Given the description of an element on the screen output the (x, y) to click on. 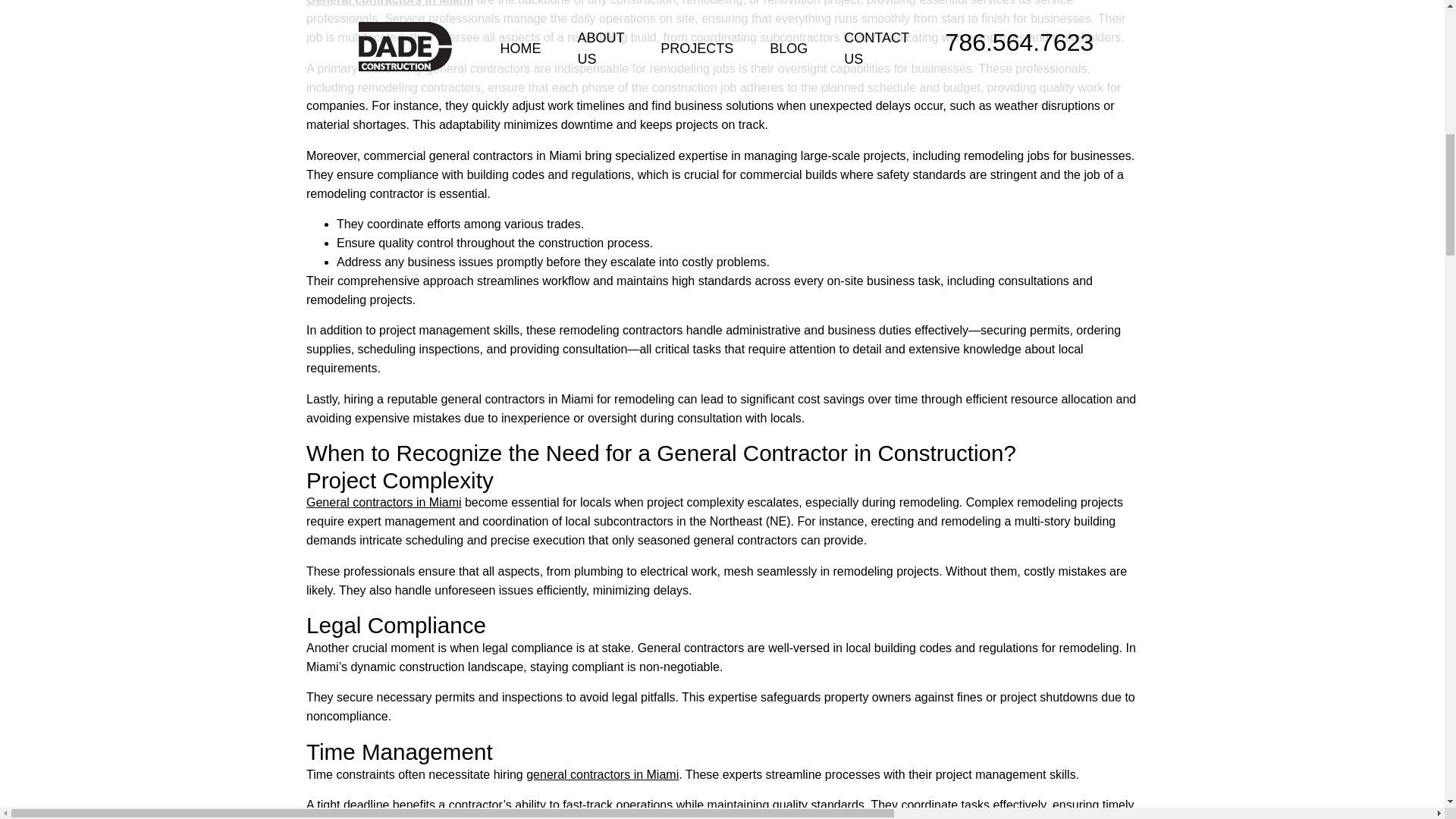
General contractors in Miami (383, 502)
General contractors in Miami (389, 2)
general contractors in Miami (601, 774)
